Given the description of an element on the screen output the (x, y) to click on. 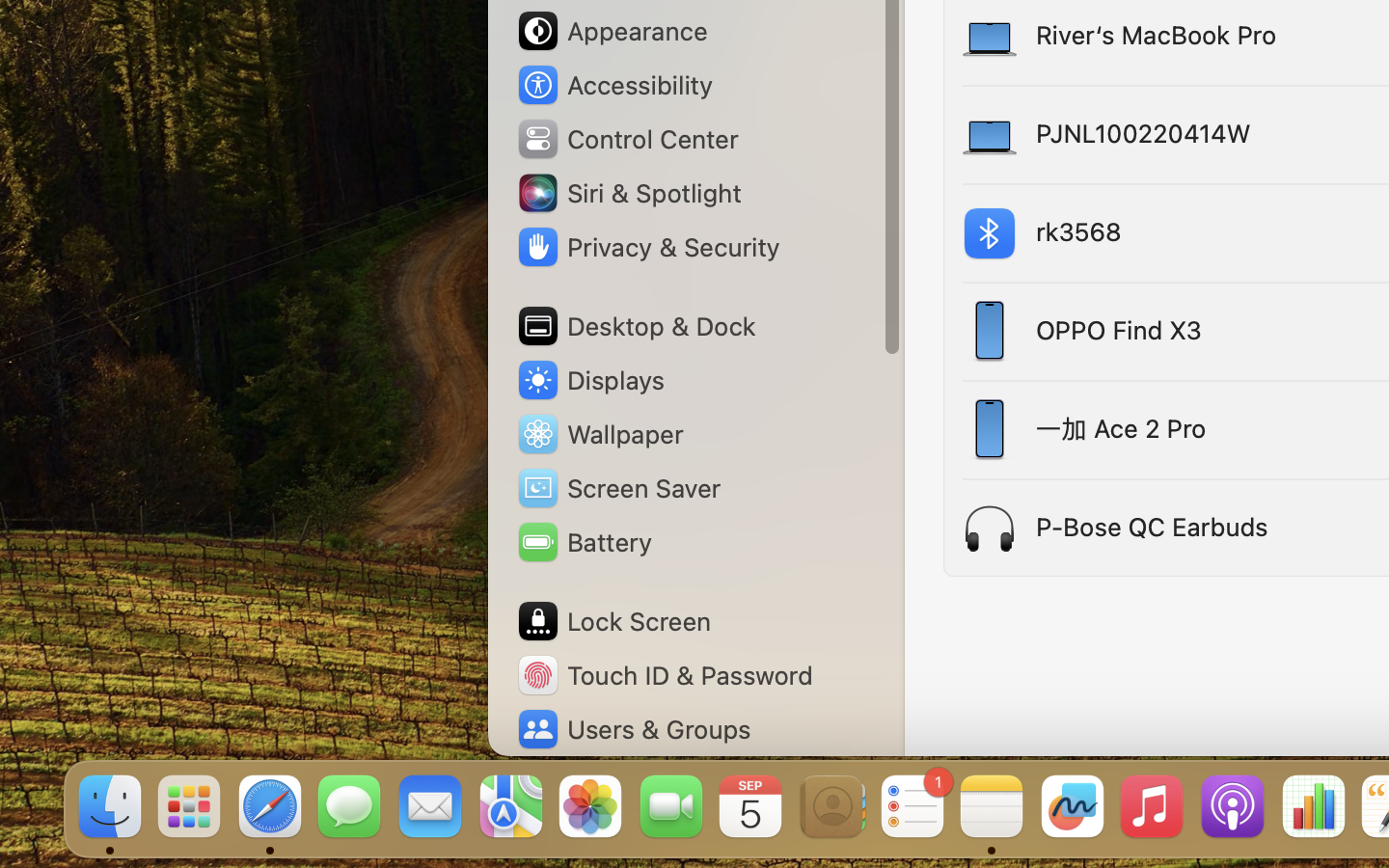
Siri & Spotlight Element type: AXStaticText (627, 192)
Touch ID & Password Element type: AXStaticText (664, 674)
Lock Screen Element type: AXStaticText (613, 620)
Wallpaper Element type: AXStaticText (598, 433)
Users & Groups Element type: AXStaticText (632, 728)
